Given the description of an element on the screen output the (x, y) to click on. 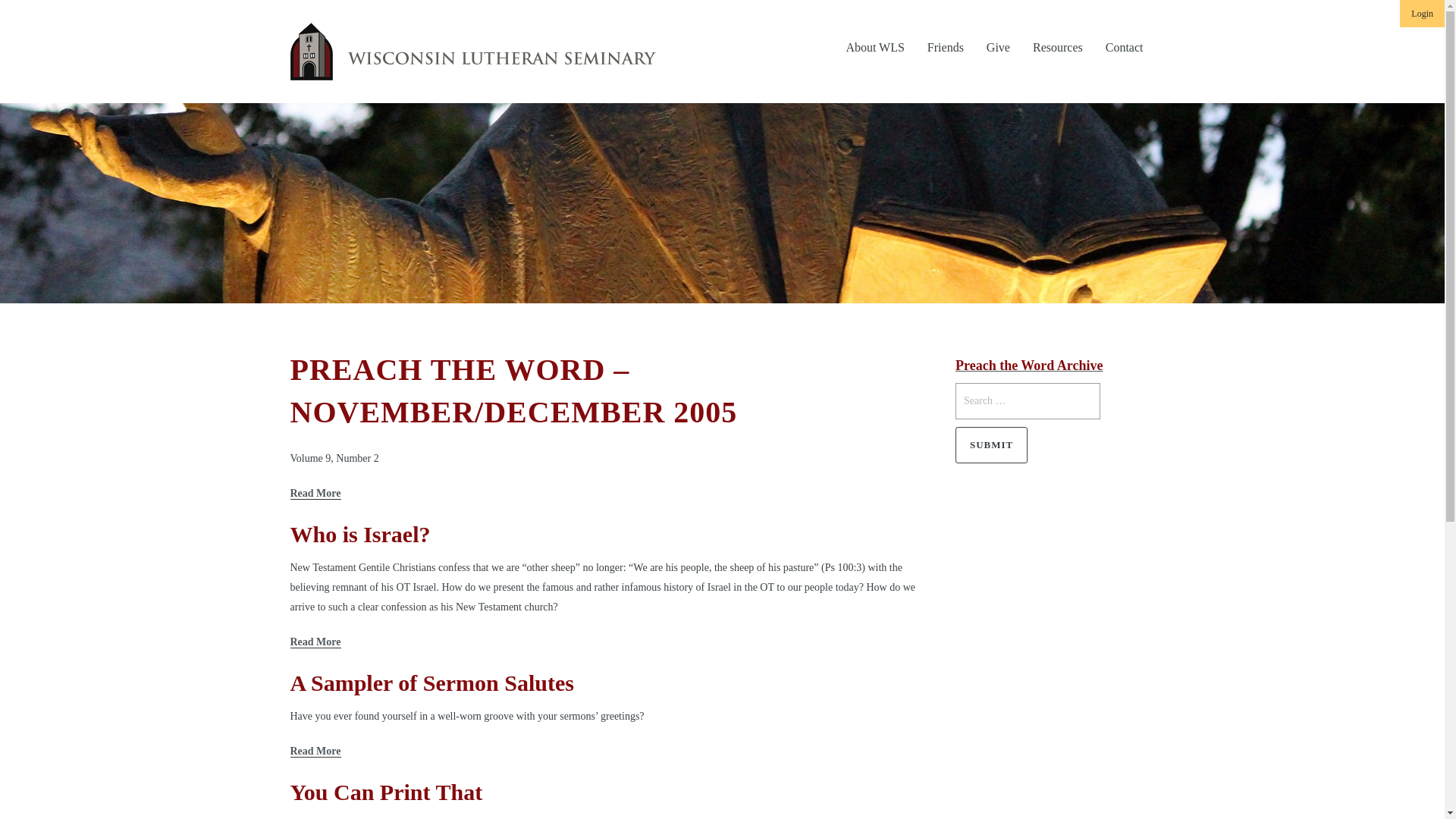
About WLS (874, 38)
Submit (991, 444)
Wisconsin Lutheran Seminary (472, 51)
Resources (1058, 38)
